Given the description of an element on the screen output the (x, y) to click on. 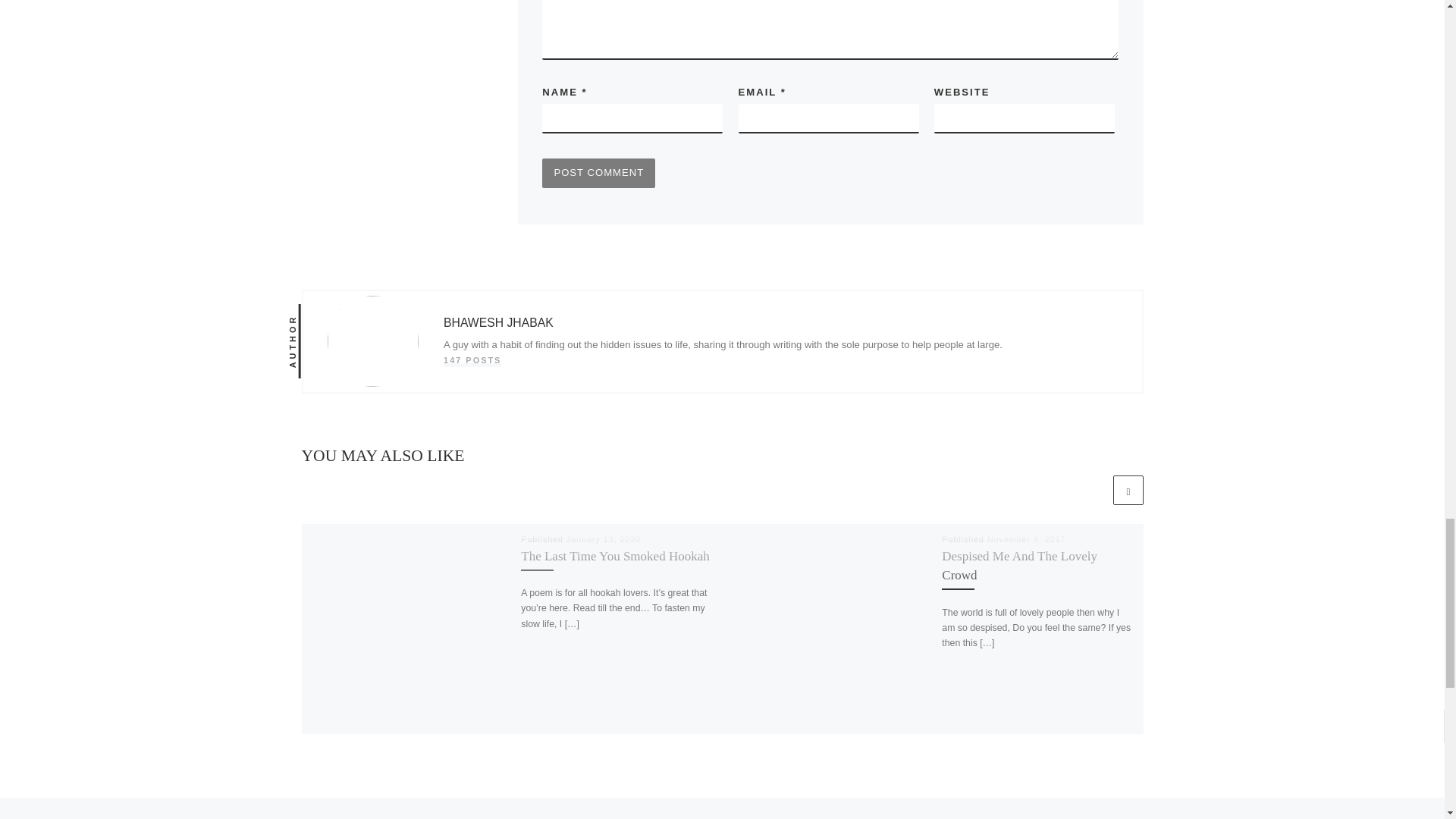
Post Comment (598, 173)
